Given the description of an element on the screen output the (x, y) to click on. 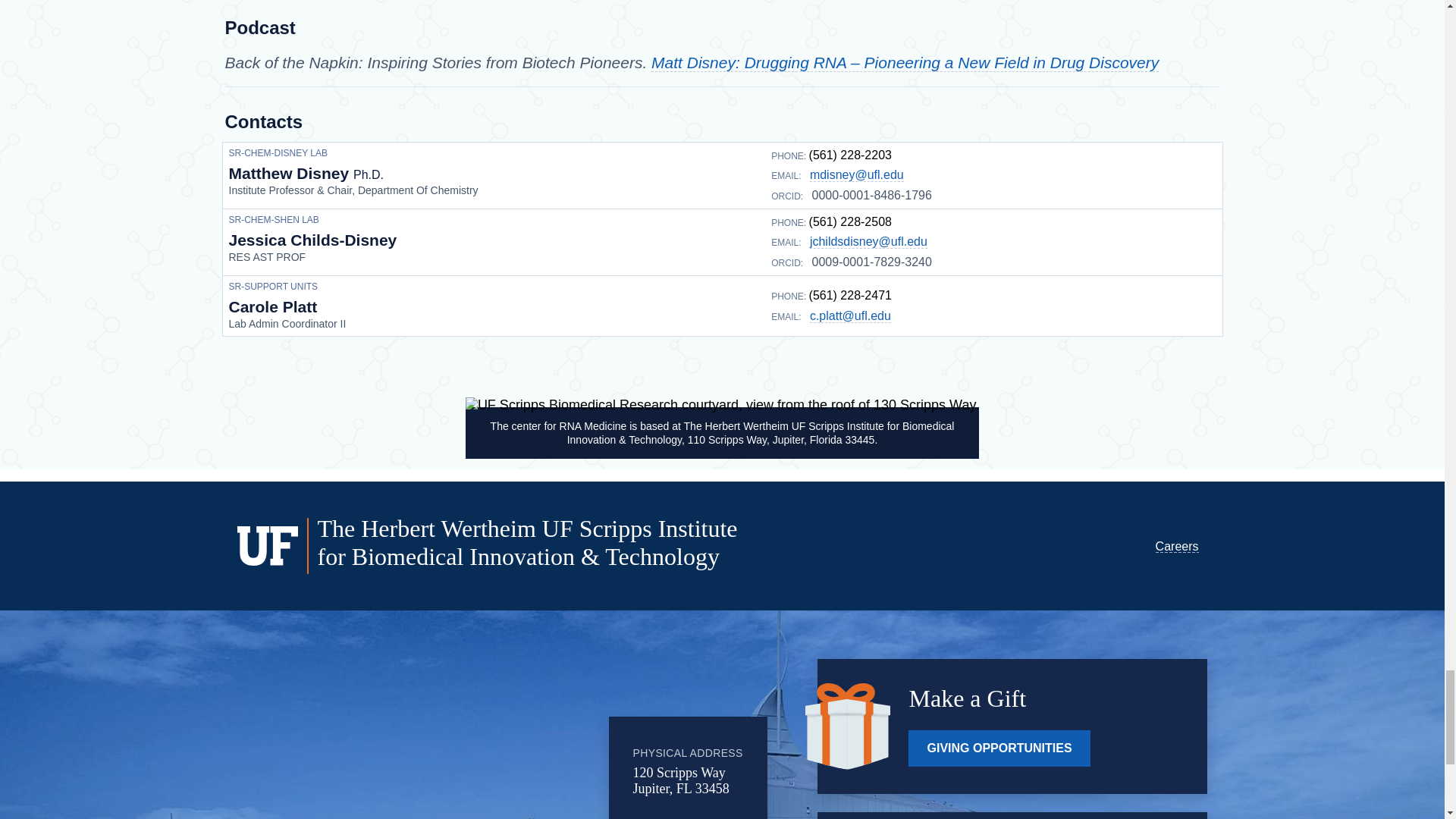
Careers (1177, 545)
Google Maps Embed (484, 741)
